Given the description of an element on the screen output the (x, y) to click on. 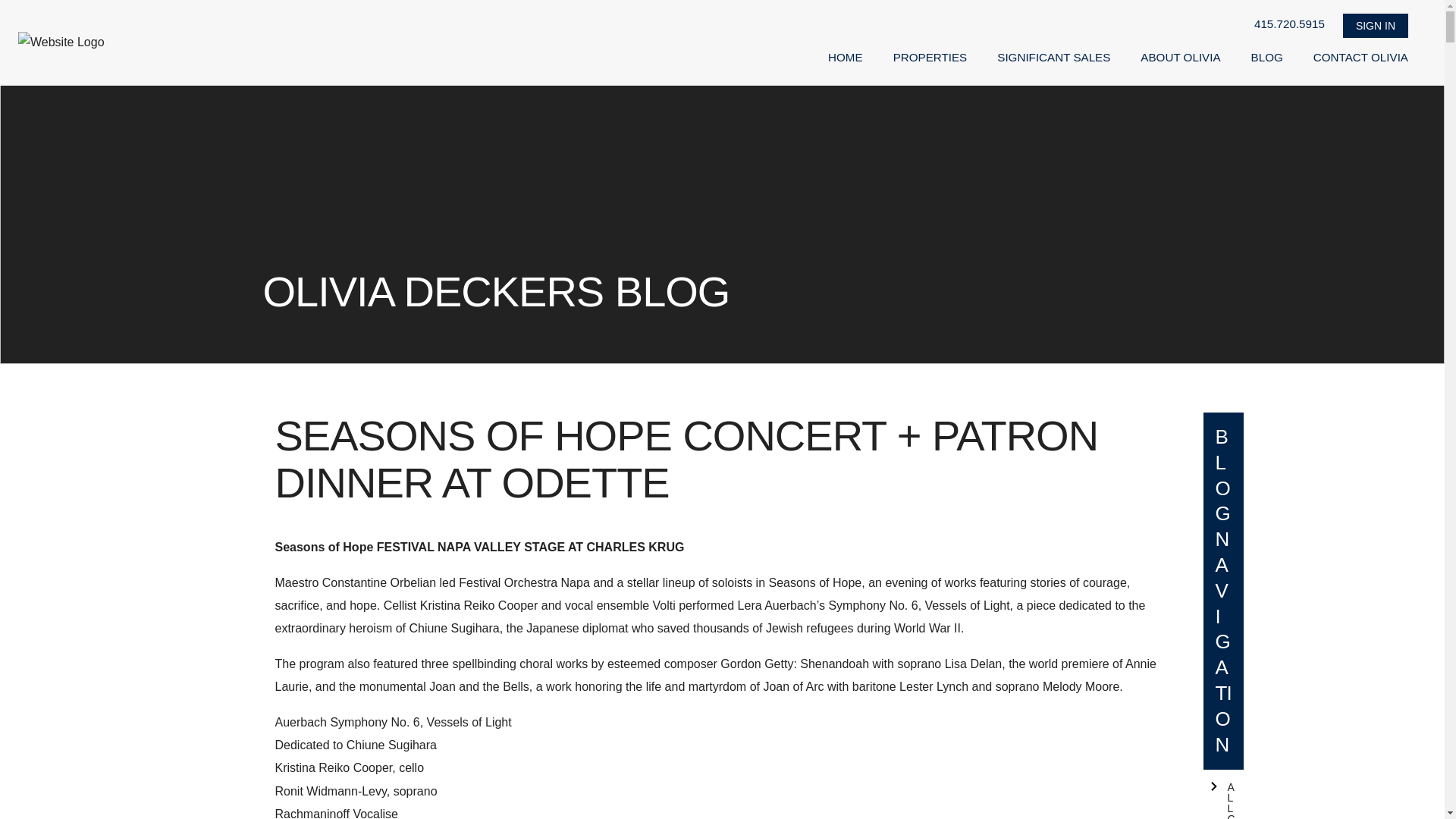
BLOG (1266, 57)
Skip to main content (343, 20)
ALL CATEGORIES (1222, 794)
ABOUT OLIVIA (1180, 57)
415.720.5915 (1288, 23)
SIGN IN (1374, 25)
HOME (845, 57)
CONTACT OLIVIA (1360, 57)
SIGNIFICANT SALES (1053, 57)
PROPERTIES (930, 57)
